Given the description of an element on the screen output the (x, y) to click on. 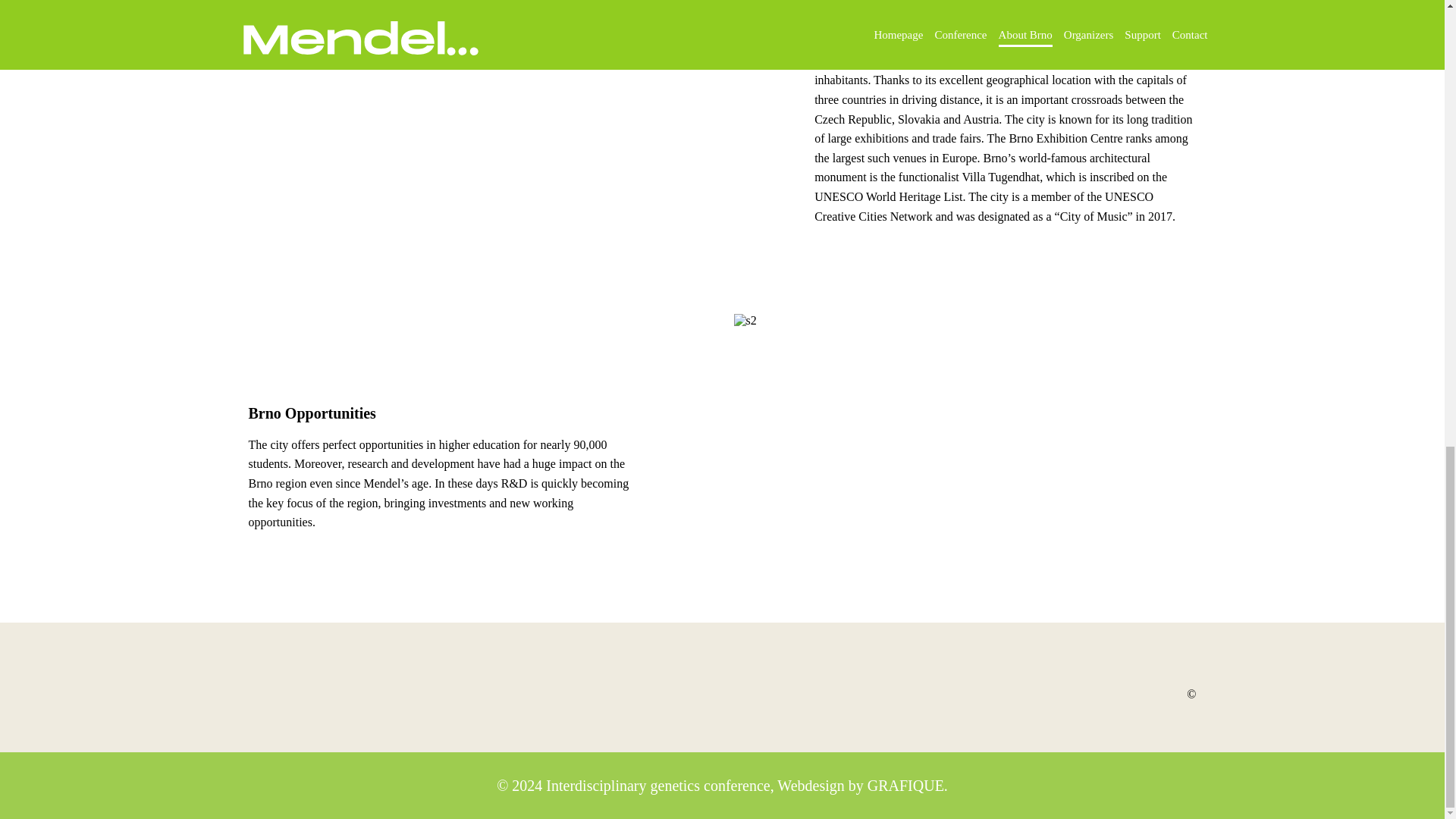
bvv3x2 (479, 138)
GRAFIQUE. (907, 785)
